Given the description of an element on the screen output the (x, y) to click on. 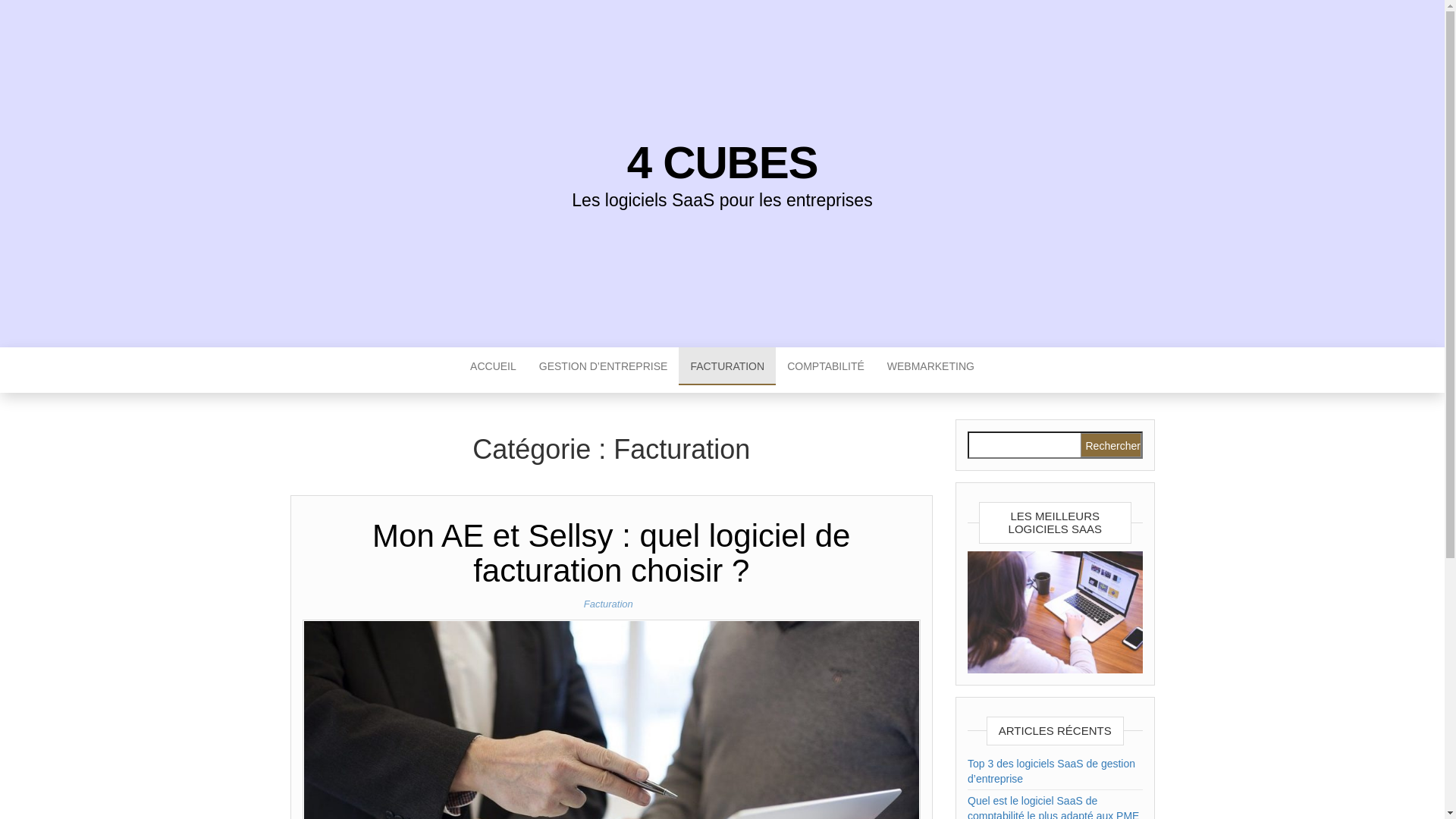
ACCUEIL Element type: text (492, 366)
Mon AE et Sellsy : quel logiciel de facturation choisir ? Element type: hover (610, 812)
4 CUBES Element type: text (722, 162)
Mon AE et Sellsy : quel logiciel de facturation choisir ? Element type: text (611, 552)
WEBMARKETING Element type: text (930, 366)
Facturation Element type: text (611, 603)
FACTURATION Element type: text (726, 366)
Rechercher Element type: text (1109, 445)
